Given the description of an element on the screen output the (x, y) to click on. 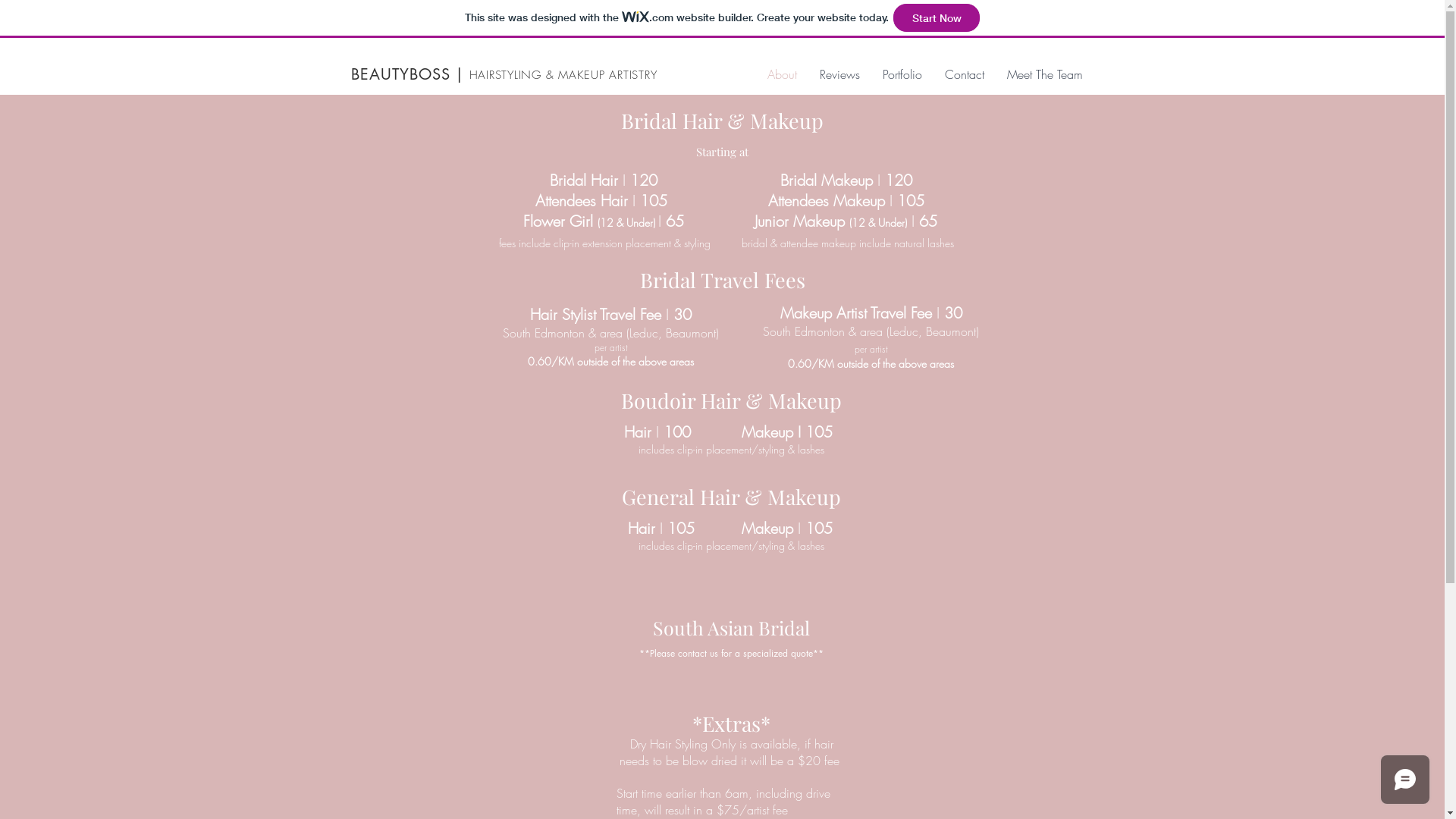
Contact Element type: text (963, 74)
Meet The Team Element type: text (1043, 74)
HAIRSTYLING & MAKEUP ARTISTRY Element type: text (562, 74)
BEAUTYBOSS | Element type: text (406, 74)
Portfolio Element type: text (901, 74)
About Element type: text (781, 74)
Reviews Element type: text (839, 74)
